Given the description of an element on the screen output the (x, y) to click on. 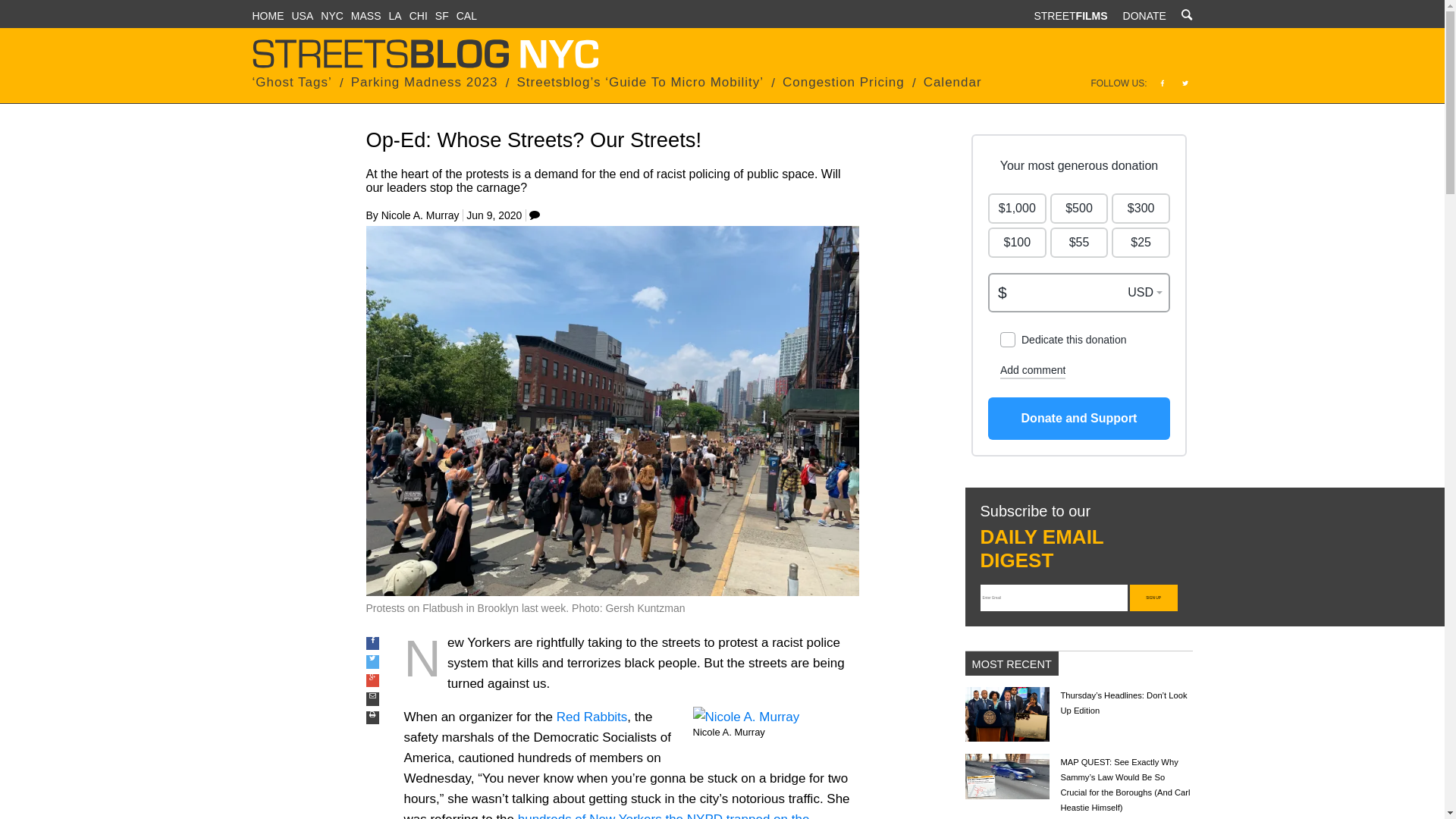
HOME (267, 15)
LA (394, 15)
Nicole A. Murray (420, 215)
SF (441, 15)
Congestion Pricing (843, 82)
Calendar (952, 82)
STREETFILMS (1069, 15)
CAL (467, 15)
Jun 9, 2020 (493, 215)
MASS (365, 15)
Parking Madness 2023 (423, 82)
CHI (418, 15)
USA (302, 15)
DONATE (1144, 15)
NYC (331, 15)
